Given the description of an element on the screen output the (x, y) to click on. 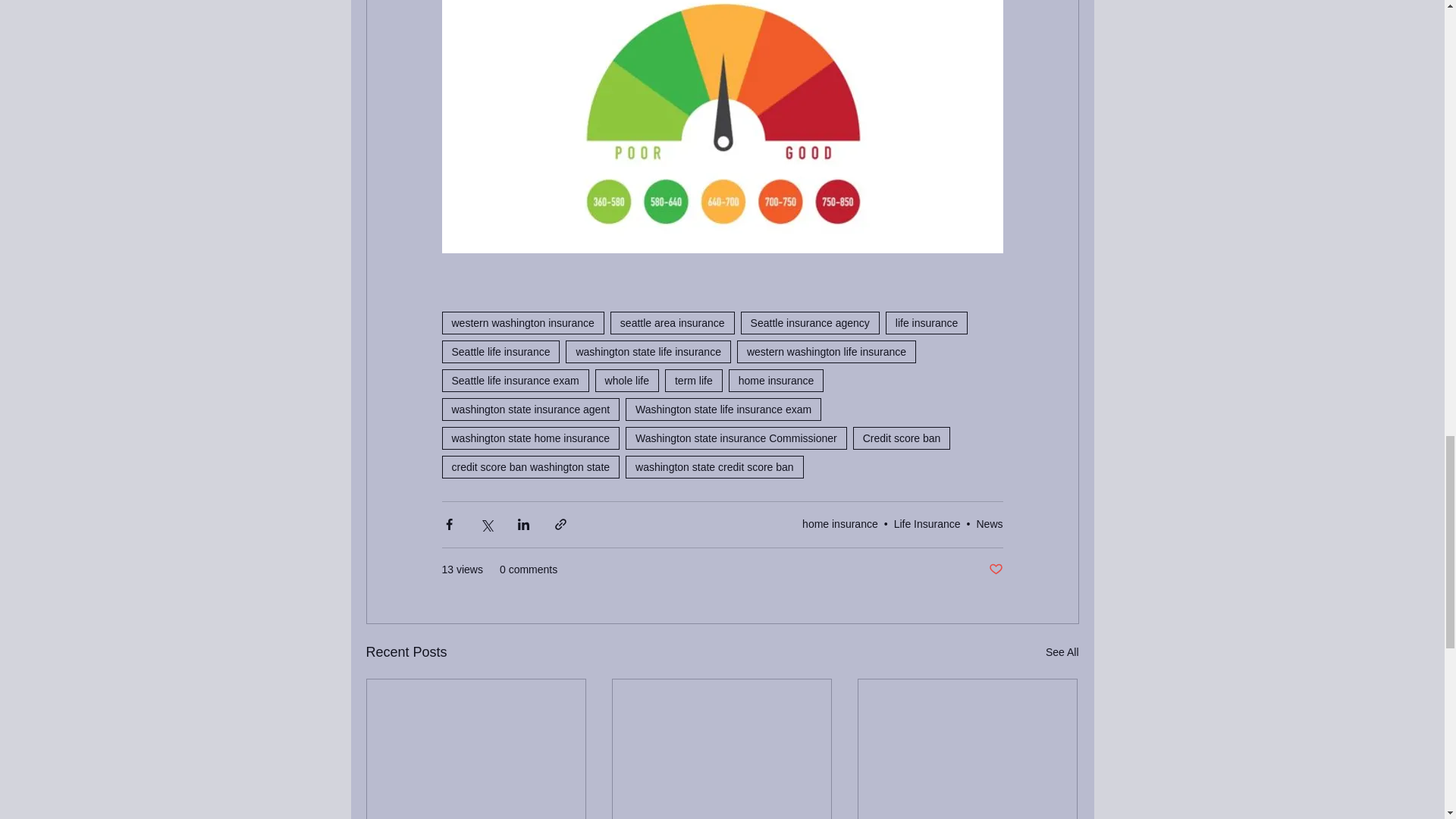
life insurance (926, 323)
western washington insurance (522, 323)
Seattle life insurance (500, 351)
Seattle insurance agency (810, 323)
washington state life insurance (648, 351)
seattle area insurance (672, 323)
